Given the description of an element on the screen output the (x, y) to click on. 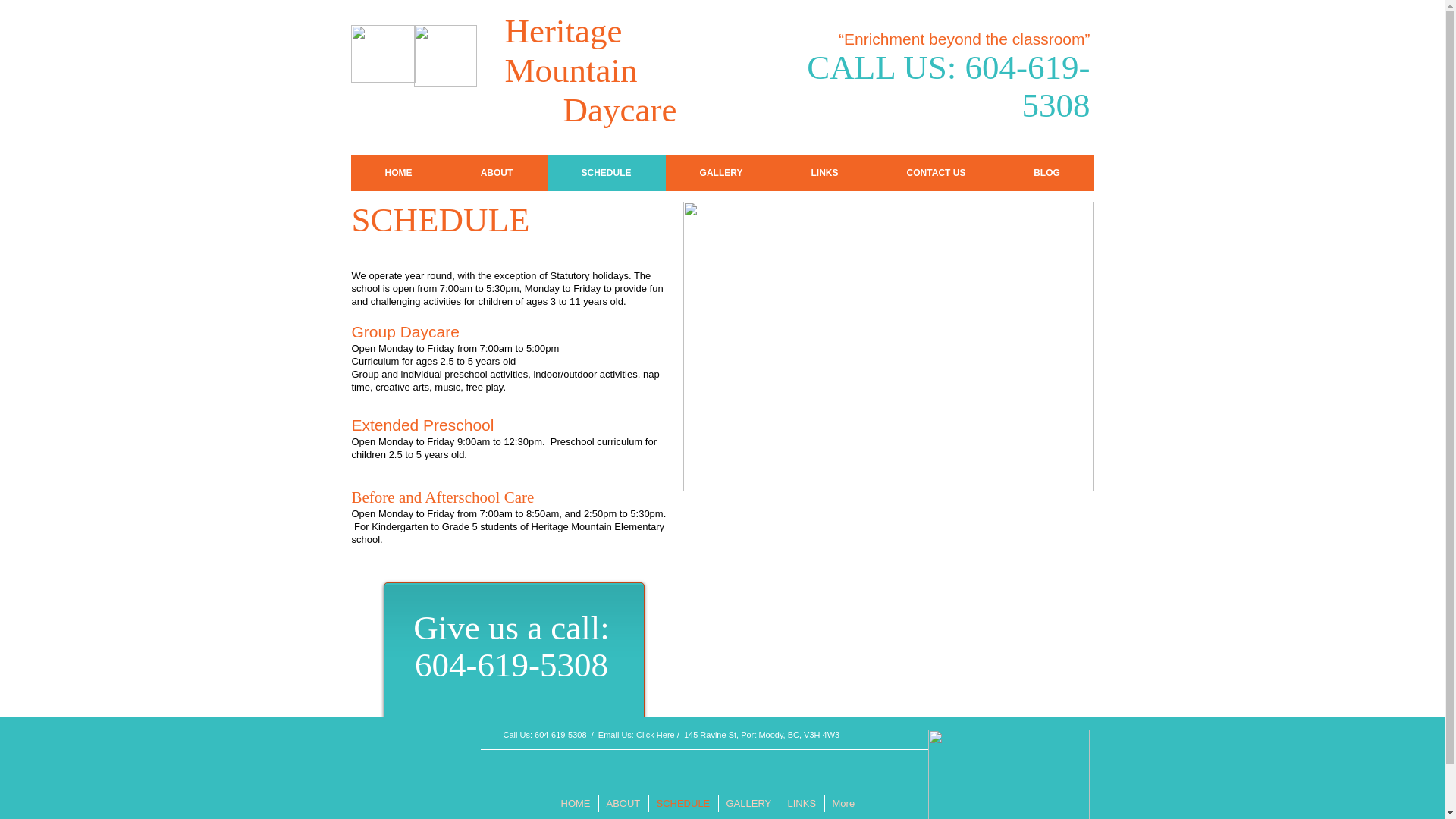
HOME (575, 803)
BLOG (1045, 172)
SCHEDULE (682, 803)
GALLERY (721, 172)
ABOUT (496, 172)
ABOUT (621, 803)
HOME (397, 172)
GALLERY (747, 803)
LINKS (801, 803)
LINKS (824, 172)
